Given the description of an element on the screen output the (x, y) to click on. 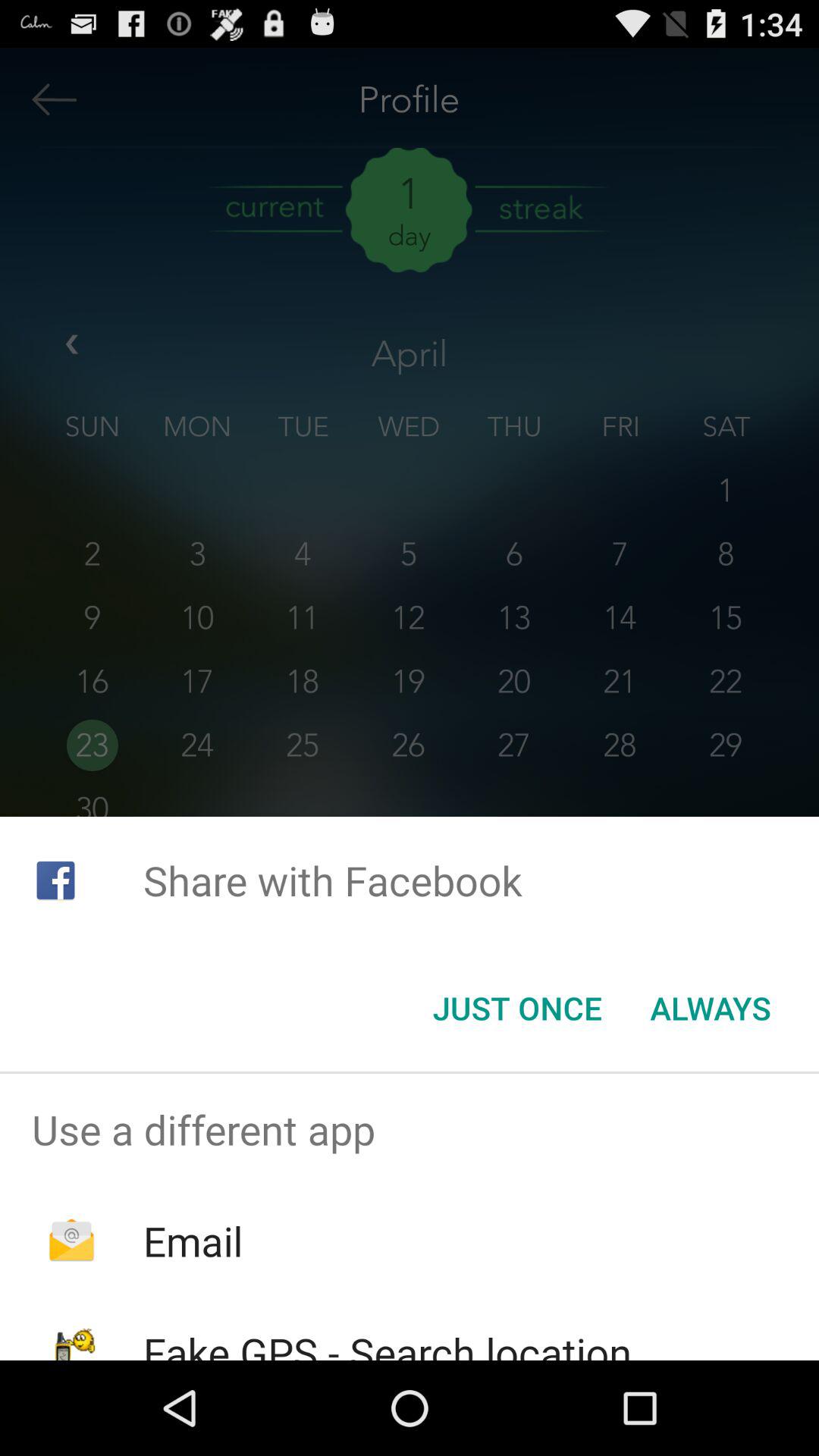
jump until the use a different (409, 1129)
